Given the description of an element on the screen output the (x, y) to click on. 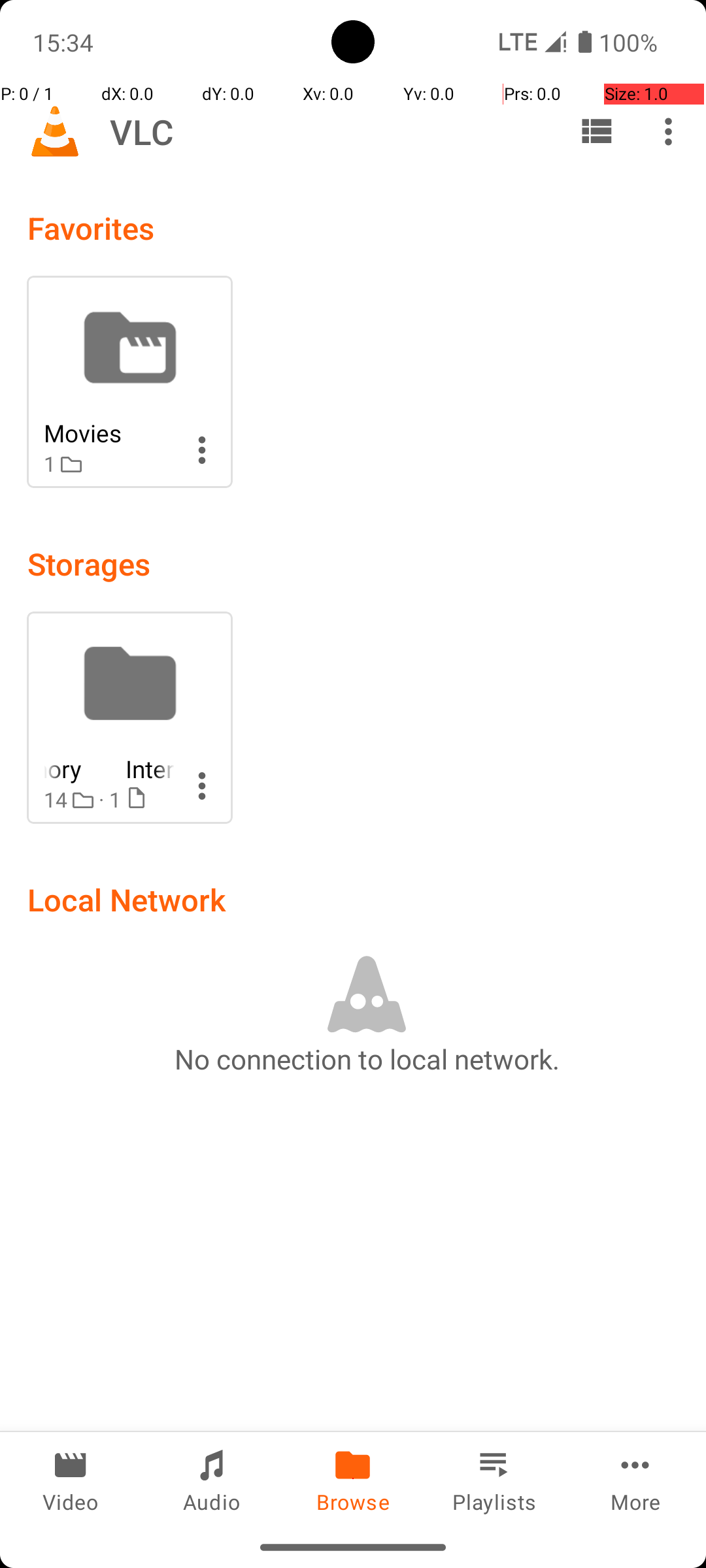
Display in list Element type: android.widget.TextView (595, 131)
Storages Element type: android.widget.TextView (88, 563)
Local Network Element type: android.widget.TextView (126, 898)
No connection to local network. Element type: android.widget.TextView (366, 1058)
Favorite: Movies, 1 subfolder Element type: androidx.cardview.widget.CardView (129, 381)
Folder: Internal memory, 14 subfolders, 1 media file Element type: androidx.cardview.widget.CardView (129, 717)
1 §*§ Element type: android.widget.TextView (108, 463)
More Actions Element type: android.widget.ImageView (201, 449)
14 §*§ · 1 *§* Element type: android.widget.TextView (108, 799)
